Given the description of an element on the screen output the (x, y) to click on. 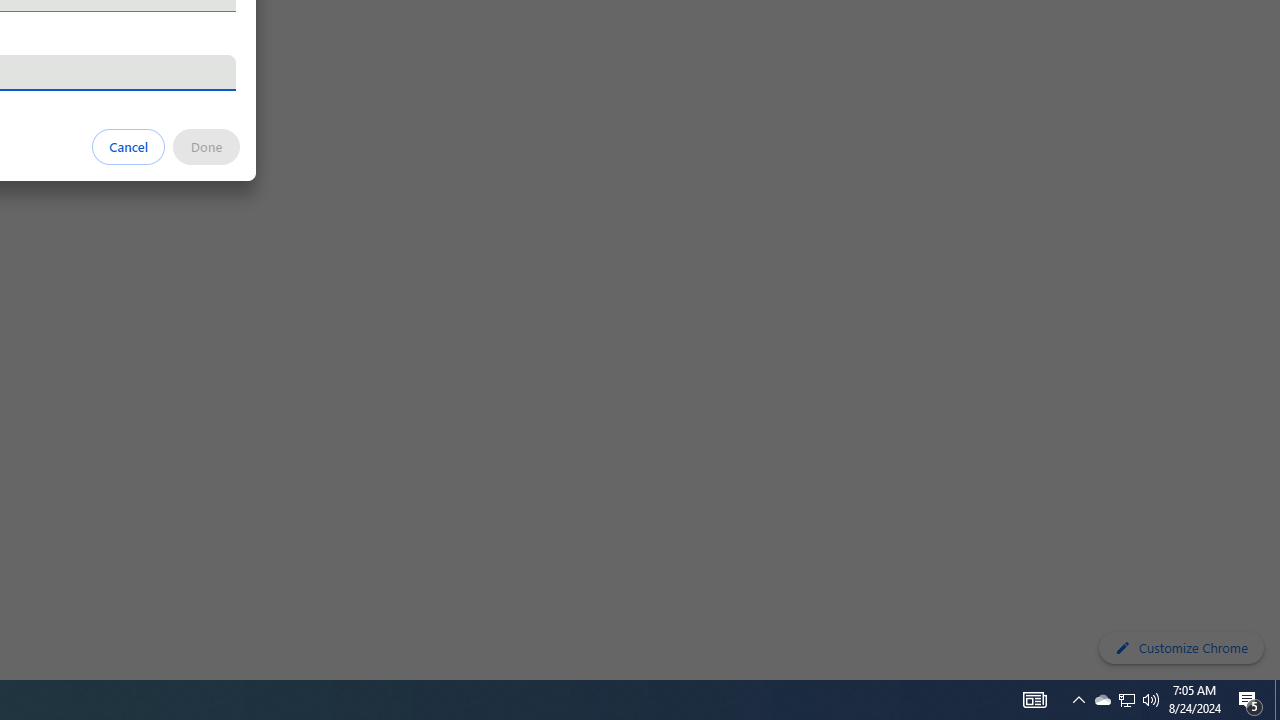
Done (206, 146)
Cancel (129, 146)
